Given the description of an element on the screen output the (x, y) to click on. 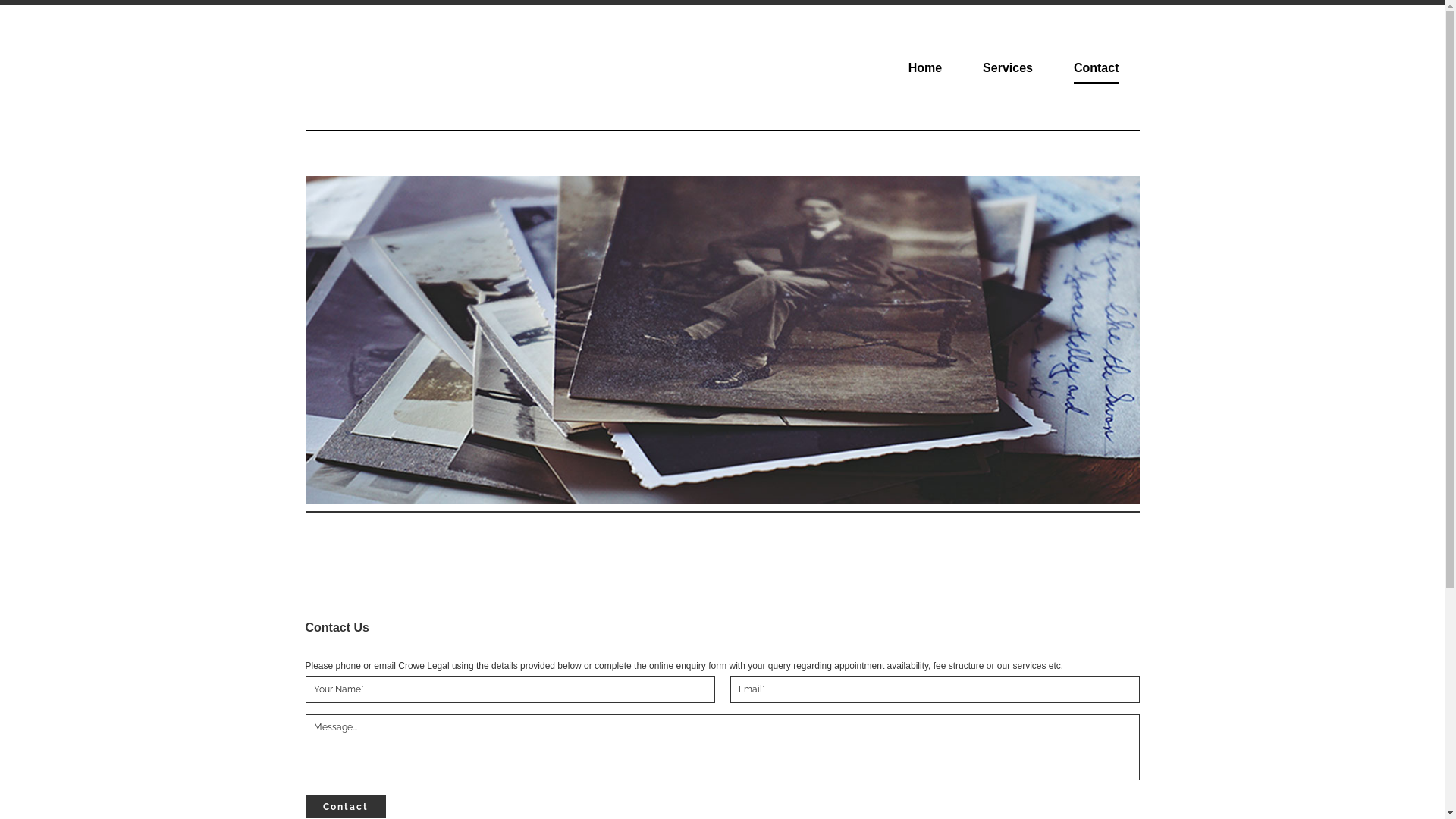
Contact Element type: text (1096, 67)
Home Element type: text (925, 67)
contact Element type: text (344, 806)
Services Element type: text (1007, 67)
